Given the description of an element on the screen output the (x, y) to click on. 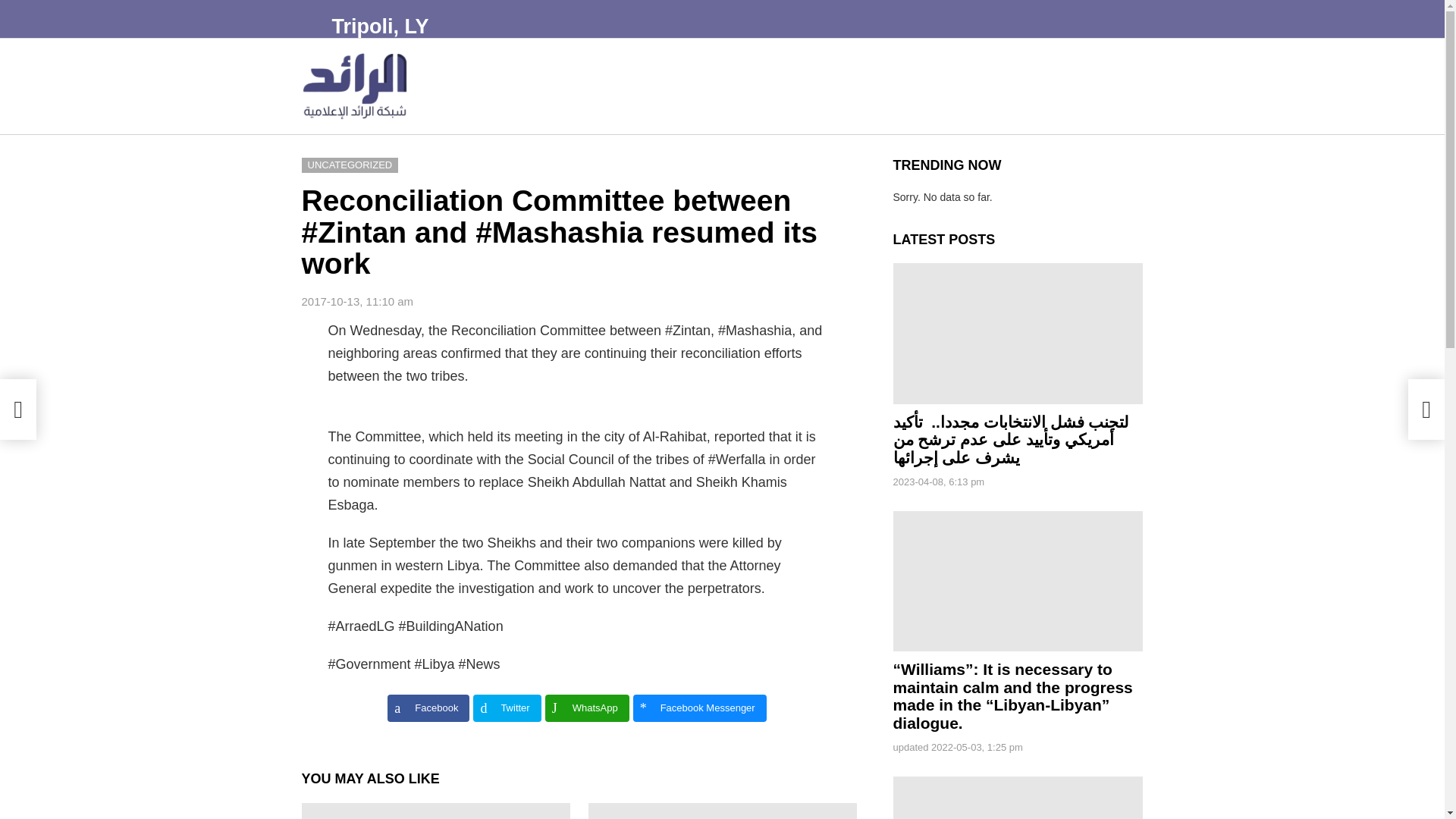
About Us (520, 86)
youtube (1115, 58)
facebook (1067, 58)
Home (461, 86)
Sports (780, 86)
Economy (655, 86)
twitter (1091, 58)
Locals (721, 86)
instagram (1140, 58)
Politics (585, 86)
